Given the description of an element on the screen output the (x, y) to click on. 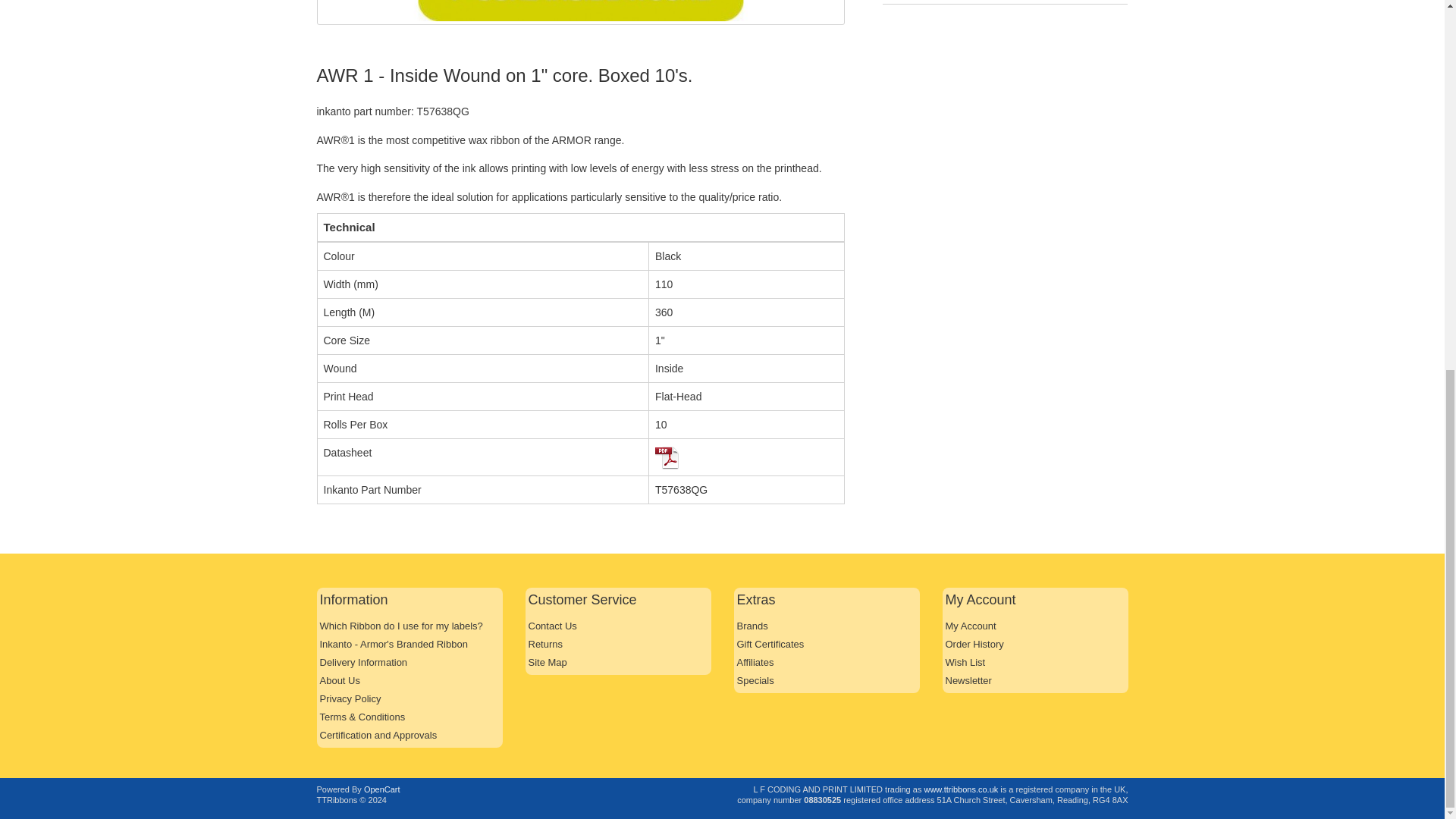
Download the datasheet as PDF (667, 456)
